Given the description of an element on the screen output the (x, y) to click on. 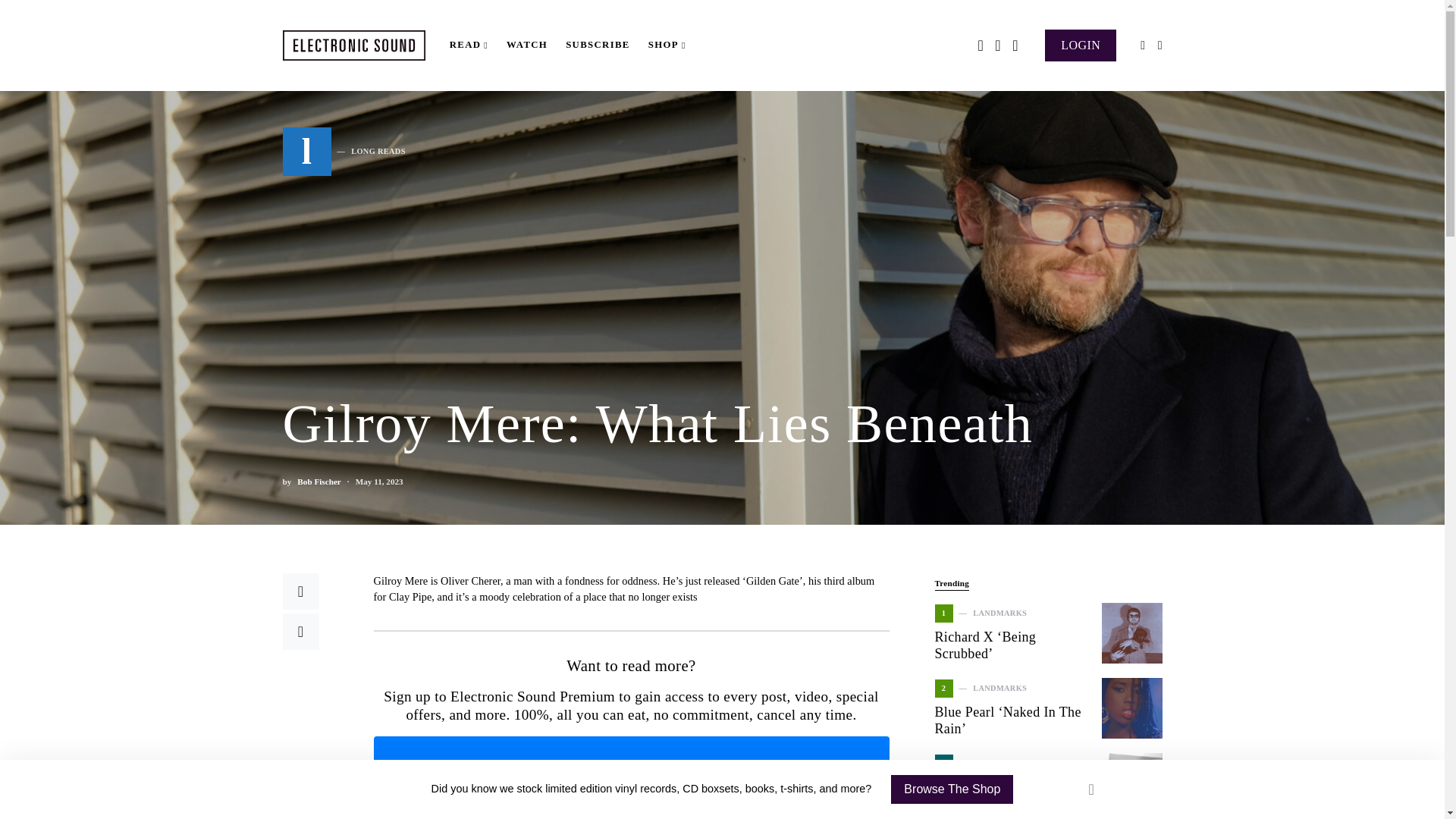
Bob Fischer (318, 481)
LOGIN (1080, 44)
View all posts by Bob Fischer (318, 481)
SUBSCRIBE (597, 45)
